Given the description of an element on the screen output the (x, y) to click on. 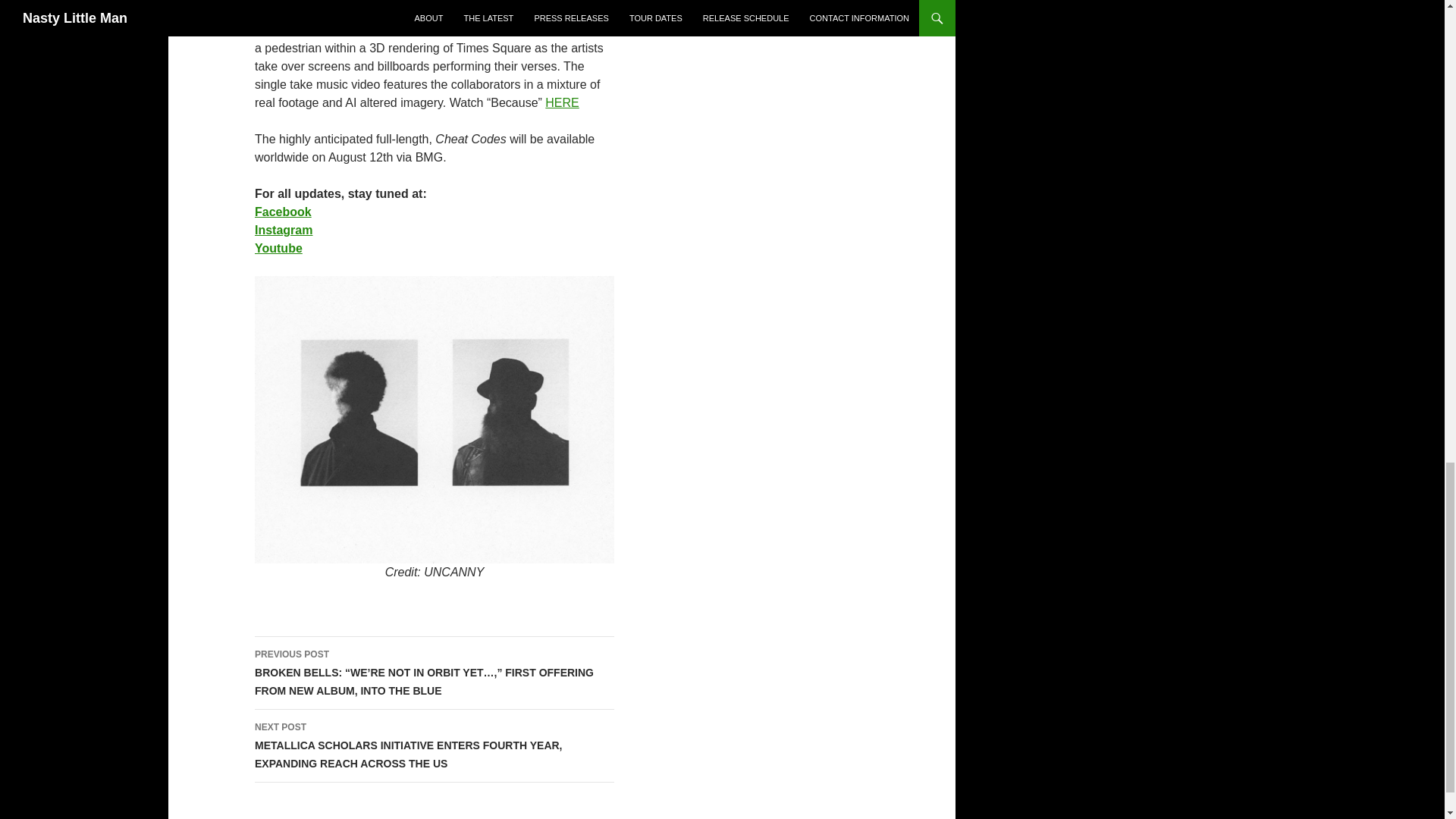
HERE (561, 102)
Instagram (283, 229)
Youtube (278, 247)
Facebook (282, 211)
